Given the description of an element on the screen output the (x, y) to click on. 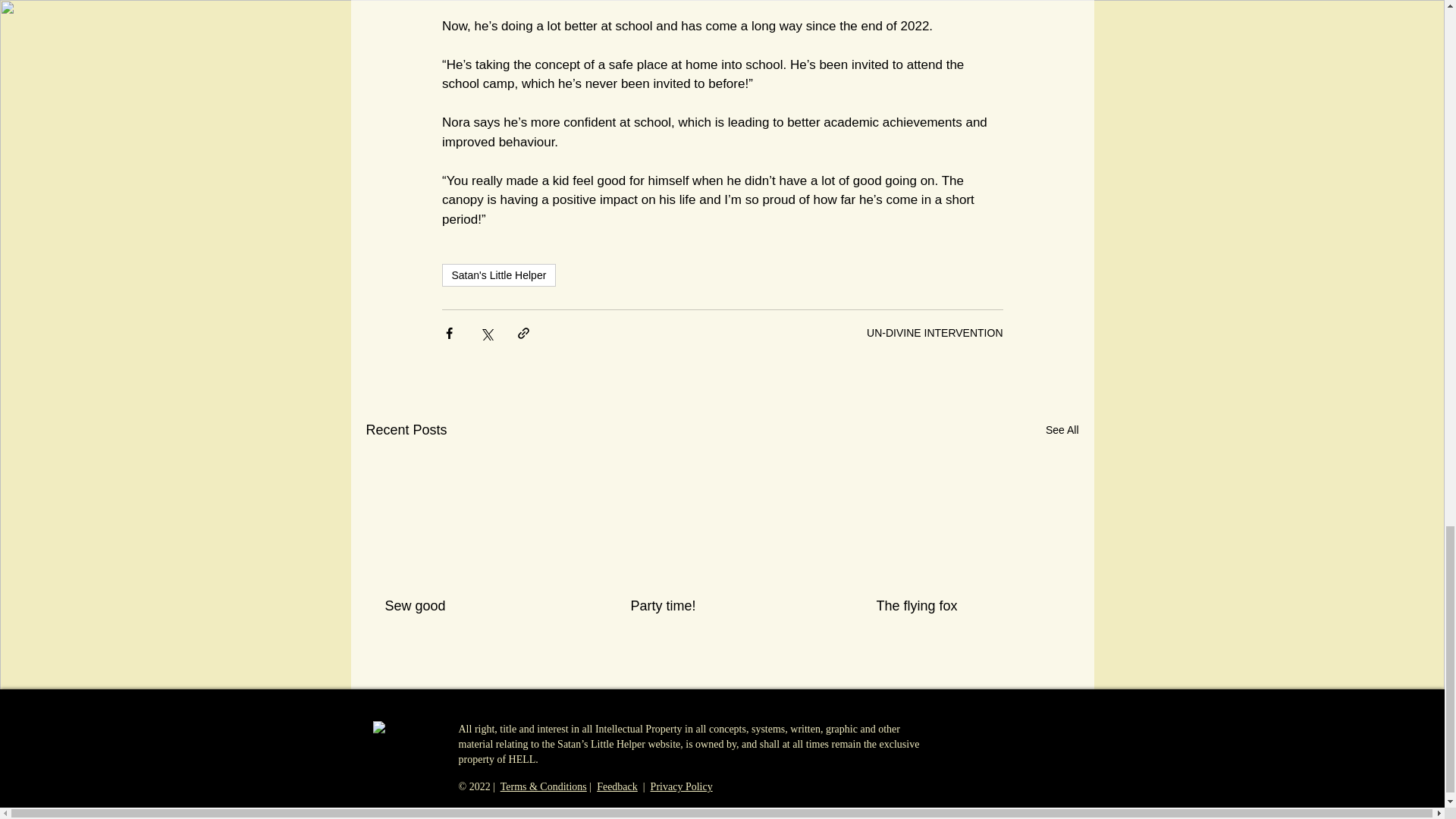
See All (1061, 430)
UN-DIVINE INTERVENTION (934, 332)
Party time! (721, 606)
Privacy Policy (681, 786)
The flying fox (967, 606)
Feedback (616, 786)
Satan's Little Helper (498, 274)
Sew good (476, 606)
